Given the description of an element on the screen output the (x, y) to click on. 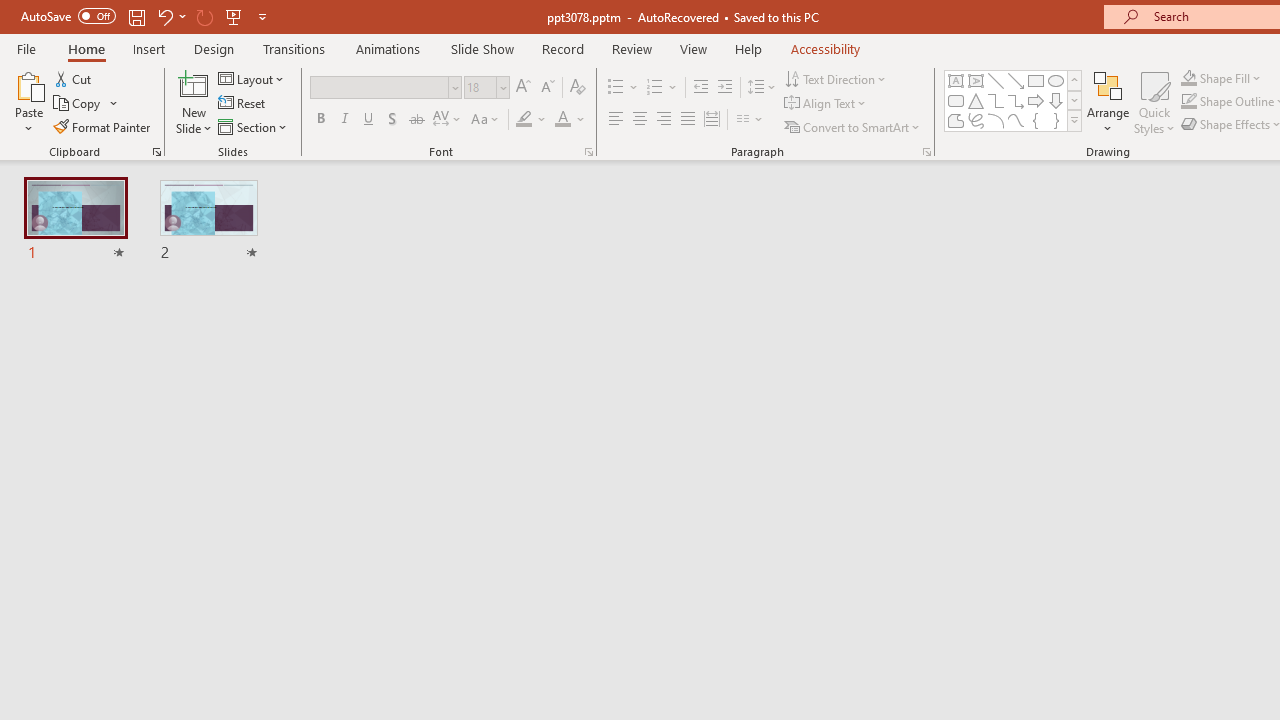
Shape Outline Green, Accent 1 (1188, 101)
